Given the description of an element on the screen output the (x, y) to click on. 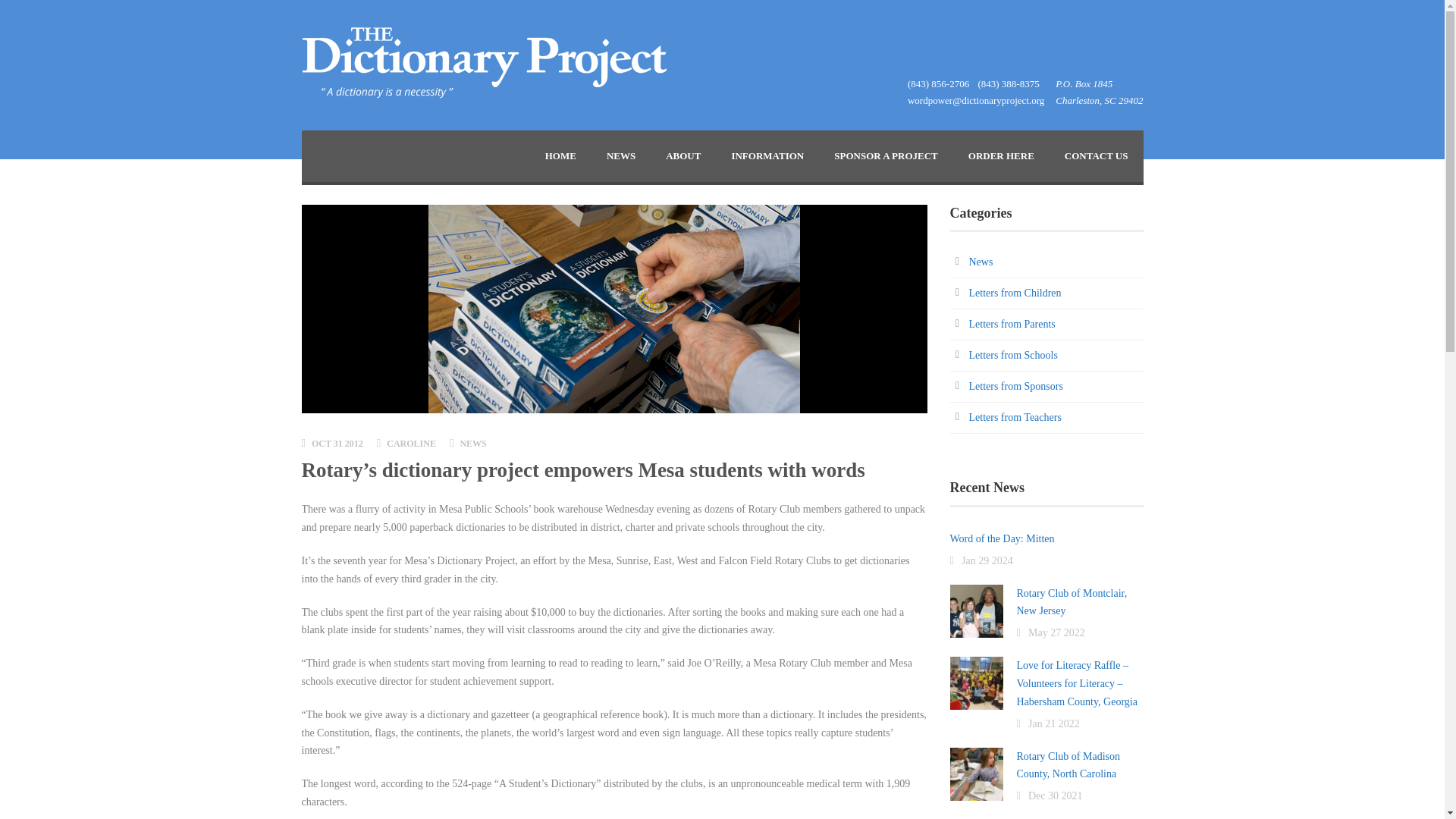
NEWS (620, 155)
INFORMATION (767, 155)
Posts by Caroline (411, 443)
HOME (560, 155)
ABOUT (683, 155)
